Given the description of an element on the screen output the (x, y) to click on. 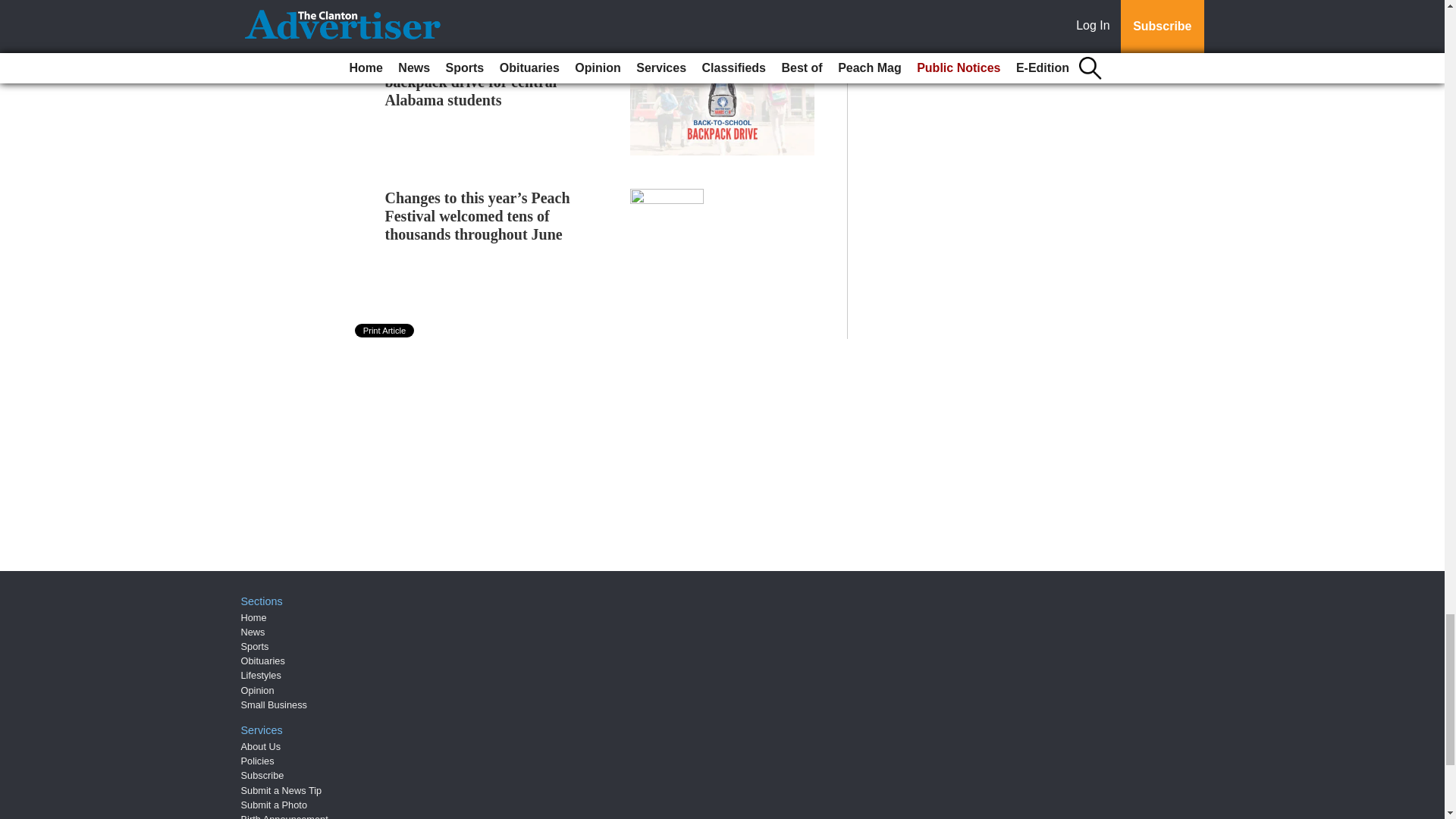
Print Article (384, 330)
Home (253, 617)
